Given the description of an element on the screen output the (x, y) to click on. 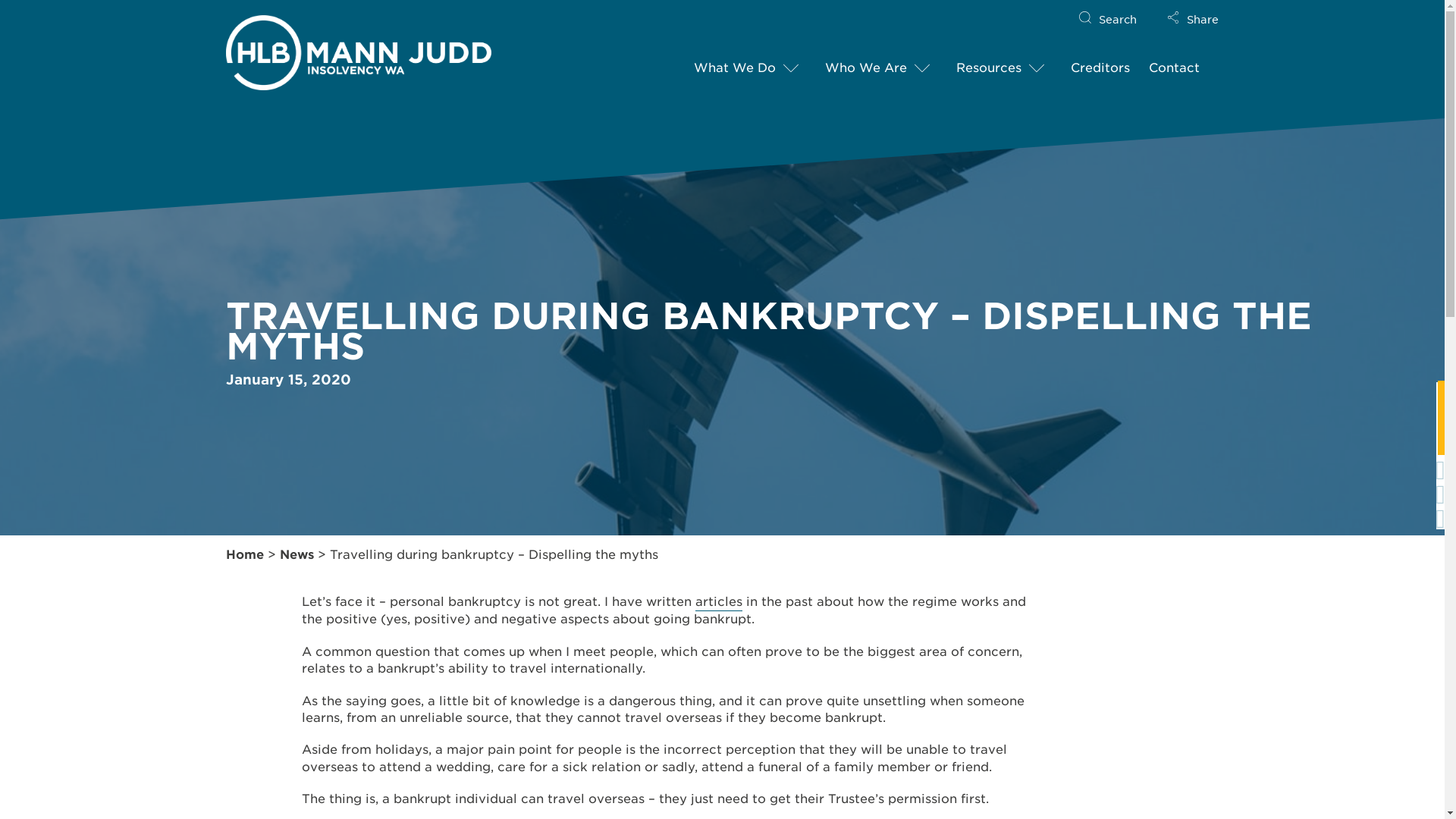
What We Do (735, 70)
Go to the News category archives. (296, 555)
Go to WA Insolvency - HLB Mann Judd. (244, 555)
Resources (989, 70)
Who We Are (866, 70)
